Given the description of an element on the screen output the (x, y) to click on. 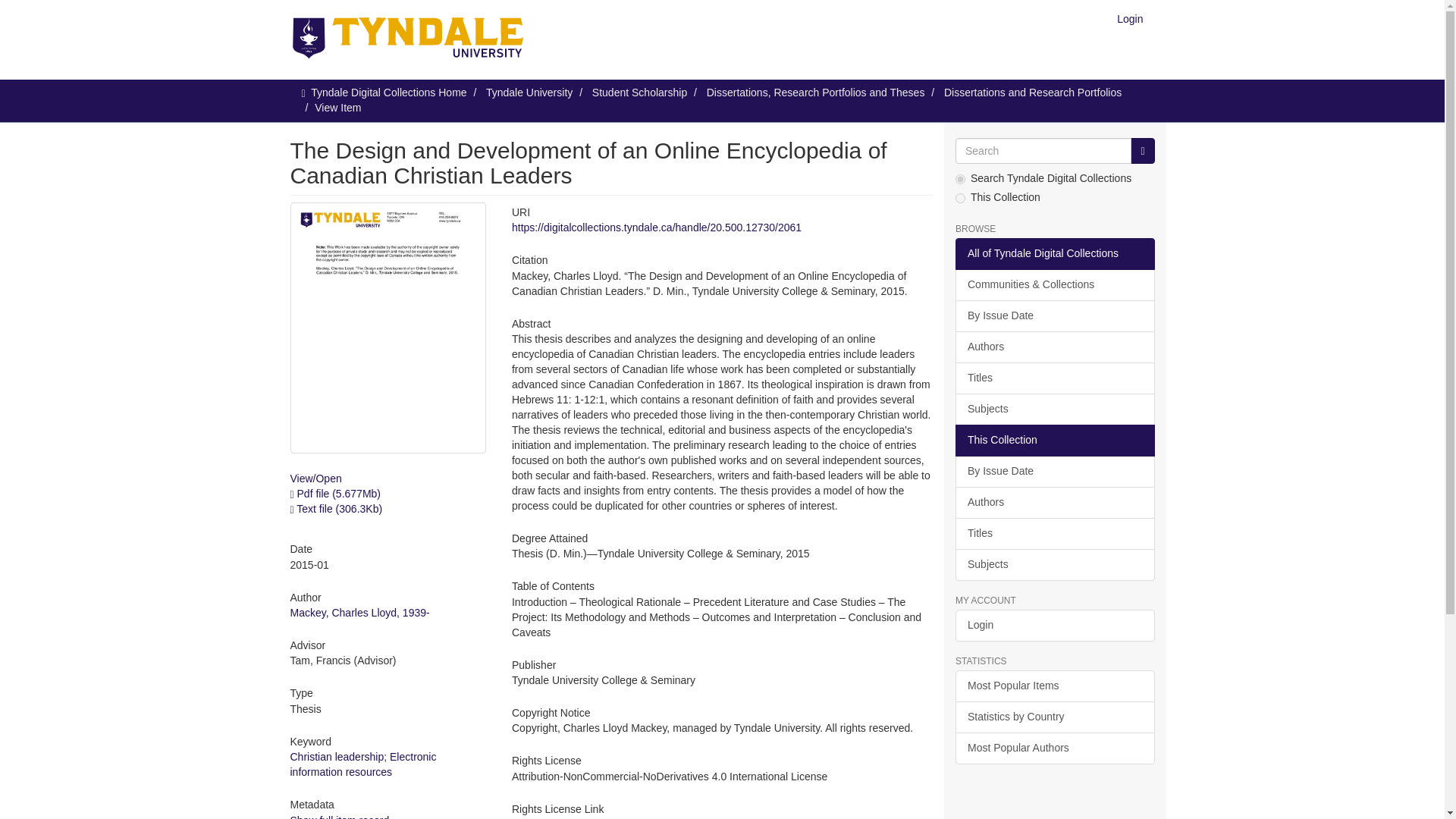
By Issue Date (1054, 316)
This Collection (1054, 440)
Titles (1054, 377)
Titles (1054, 533)
Show full item record (338, 816)
Dissertations, Research Portfolios and Theses (815, 92)
Electronic information resources (362, 764)
Student Scholarship (639, 92)
Subjects (1054, 409)
Mackey, Charles Lloyd, 1939- (359, 612)
Dissertations and Research Portfolios (1032, 92)
Authors (1054, 502)
Login (1129, 18)
Tyndale University (529, 92)
Go (1142, 150)
